Given the description of an element on the screen output the (x, y) to click on. 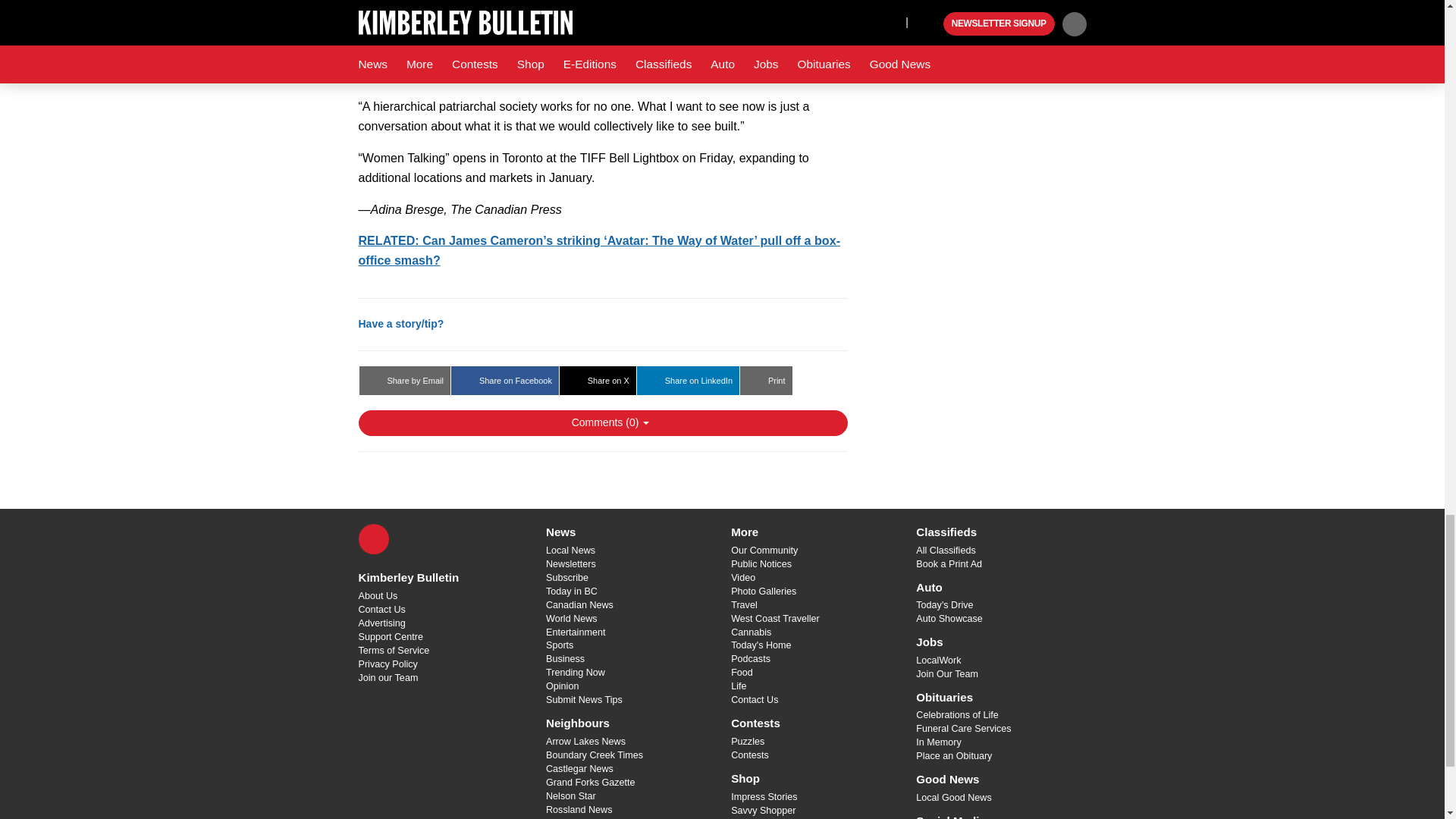
X (373, 539)
related story (599, 249)
Show Comments (602, 422)
